Given the description of an element on the screen output the (x, y) to click on. 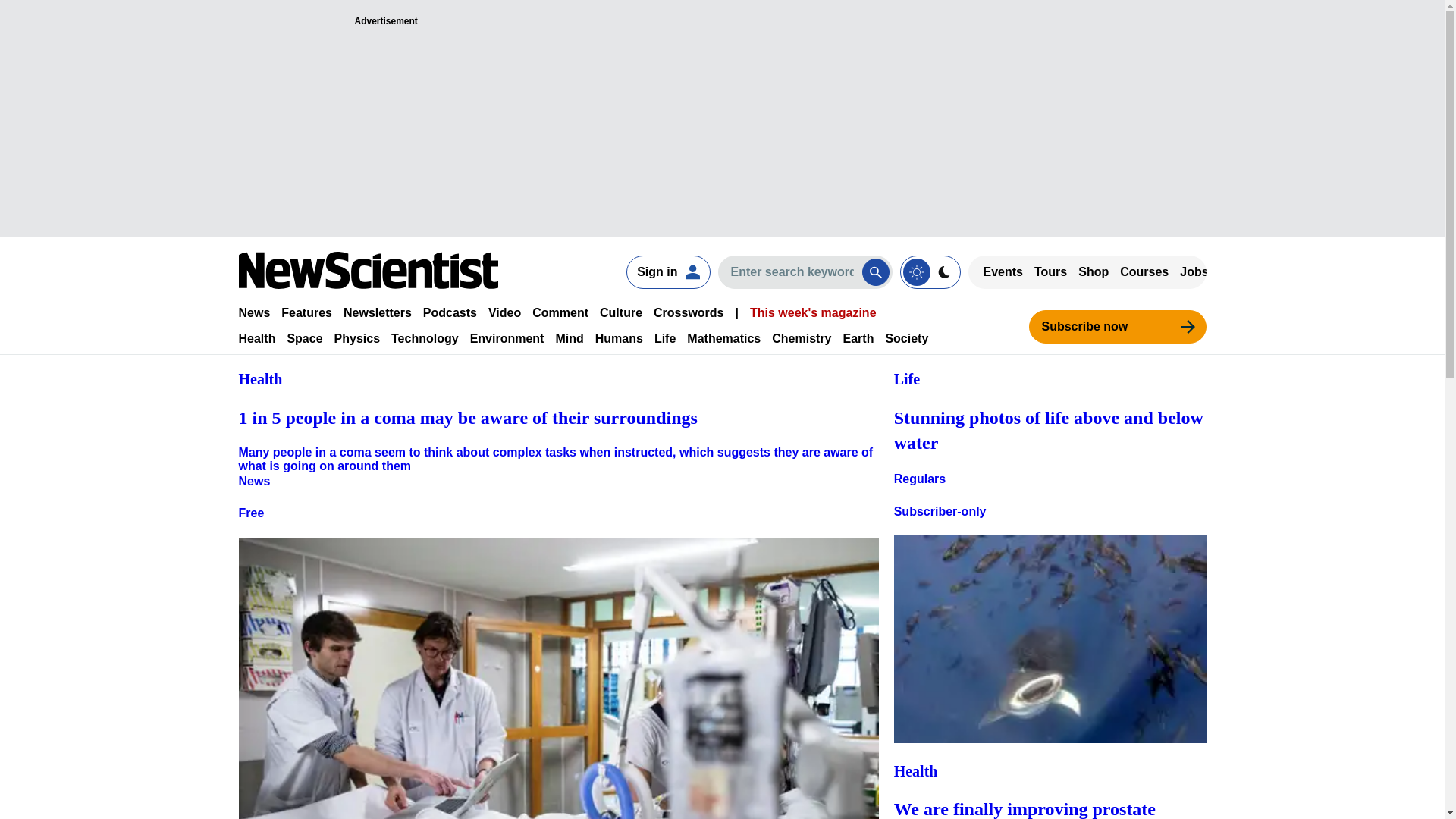
Sign in (668, 272)
Space (303, 338)
Subscribe now (1116, 326)
Tours (1050, 272)
Physics (357, 338)
Courses (1144, 272)
Chemistry (801, 338)
Podcasts (450, 313)
Comment (560, 313)
Technology (424, 338)
